Given the description of an element on the screen output the (x, y) to click on. 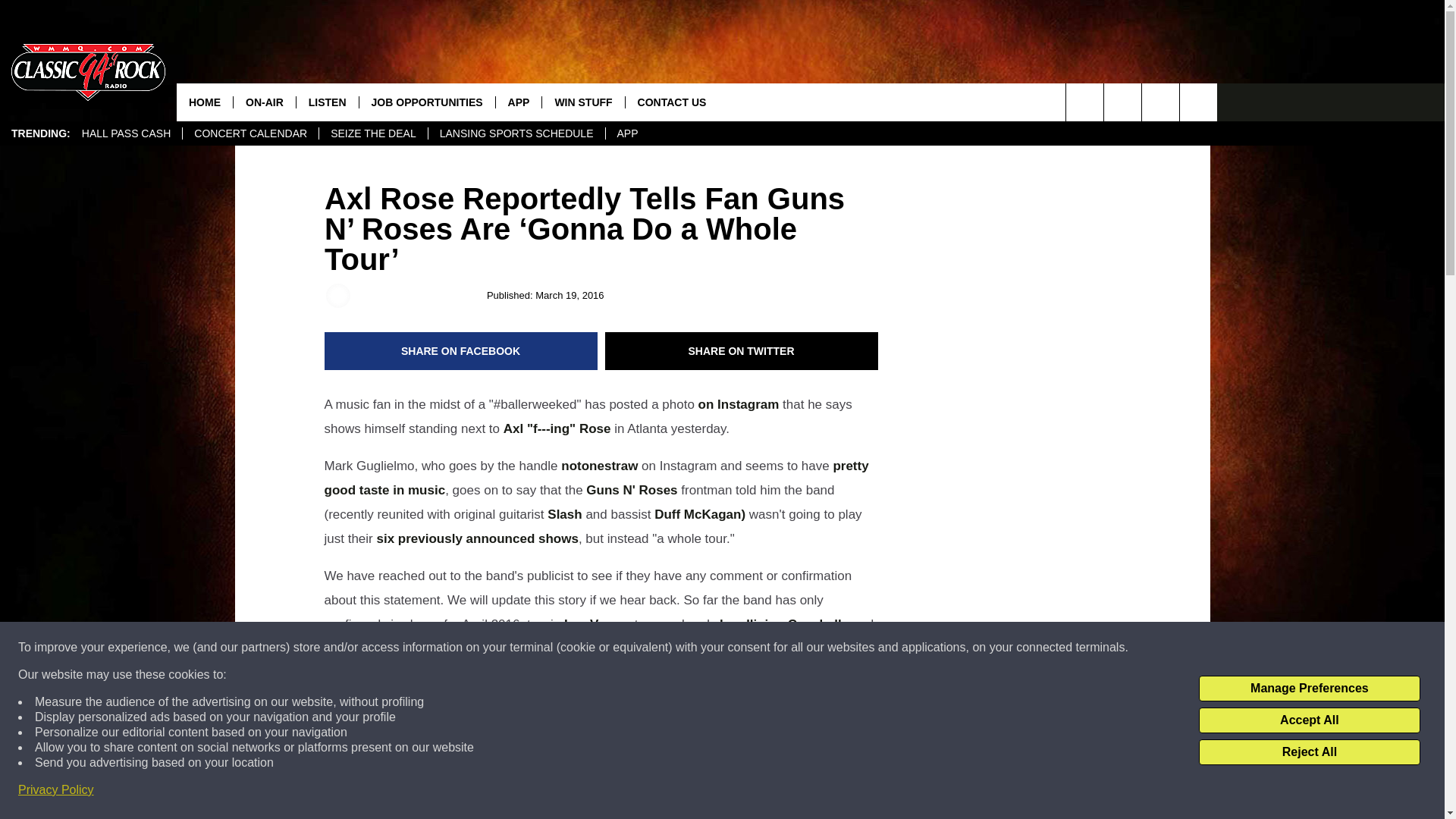
SEIZE THE DEAL (373, 133)
Reject All (1309, 751)
LANSING SPORTS SCHEDULE (516, 133)
APP (627, 133)
ON-AIR (263, 102)
Manage Preferences (1309, 688)
APP (518, 102)
CONTACT US (671, 102)
LISTEN (326, 102)
WIN STUFF (582, 102)
Accept All (1309, 720)
Share on Twitter (741, 351)
CONCERT CALENDAR (250, 133)
HOME (204, 102)
HALL PASS CASH (126, 133)
